Given the description of an element on the screen output the (x, y) to click on. 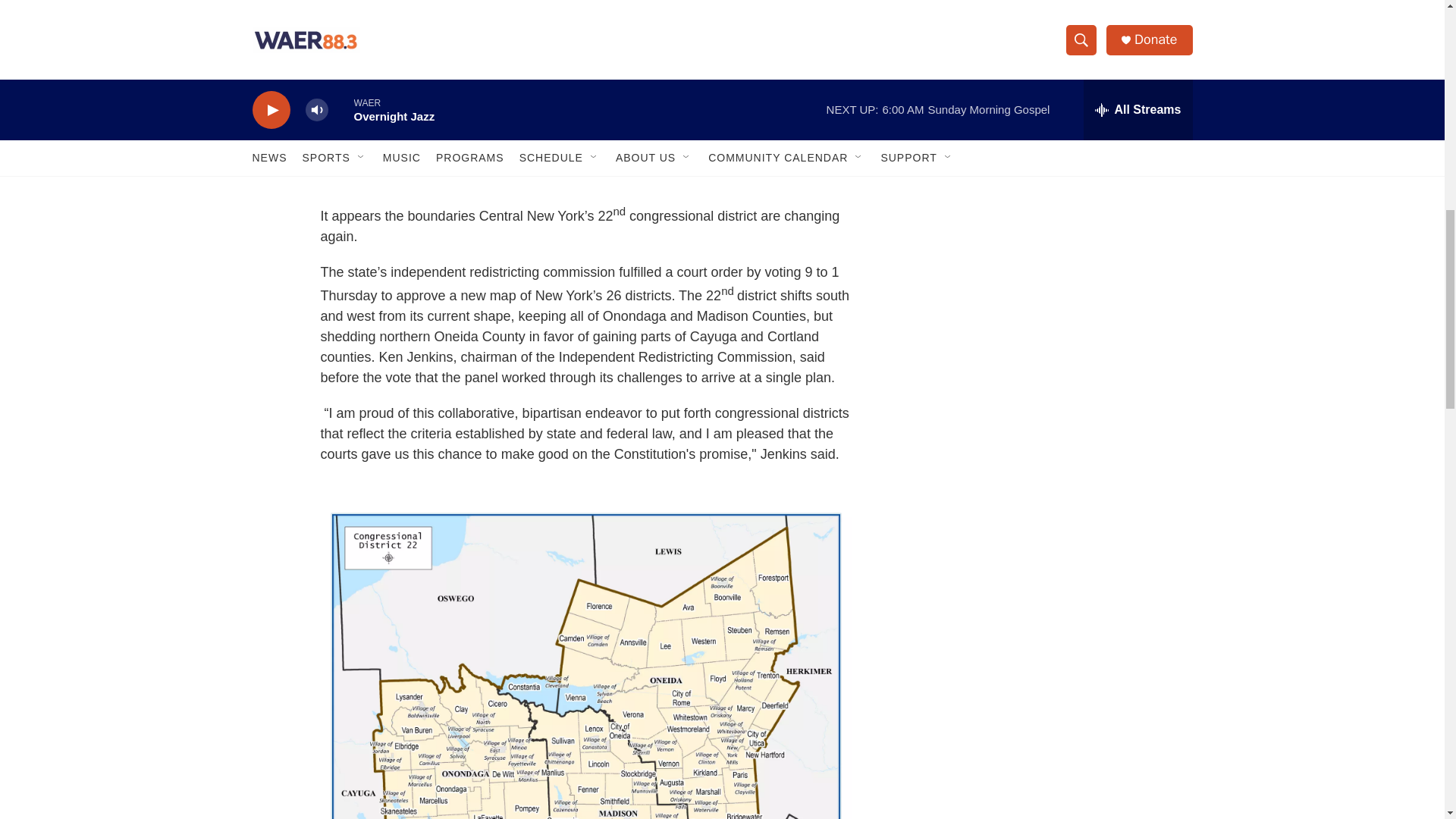
3rd party ad content (1062, 16)
